Given the description of an element on the screen output the (x, y) to click on. 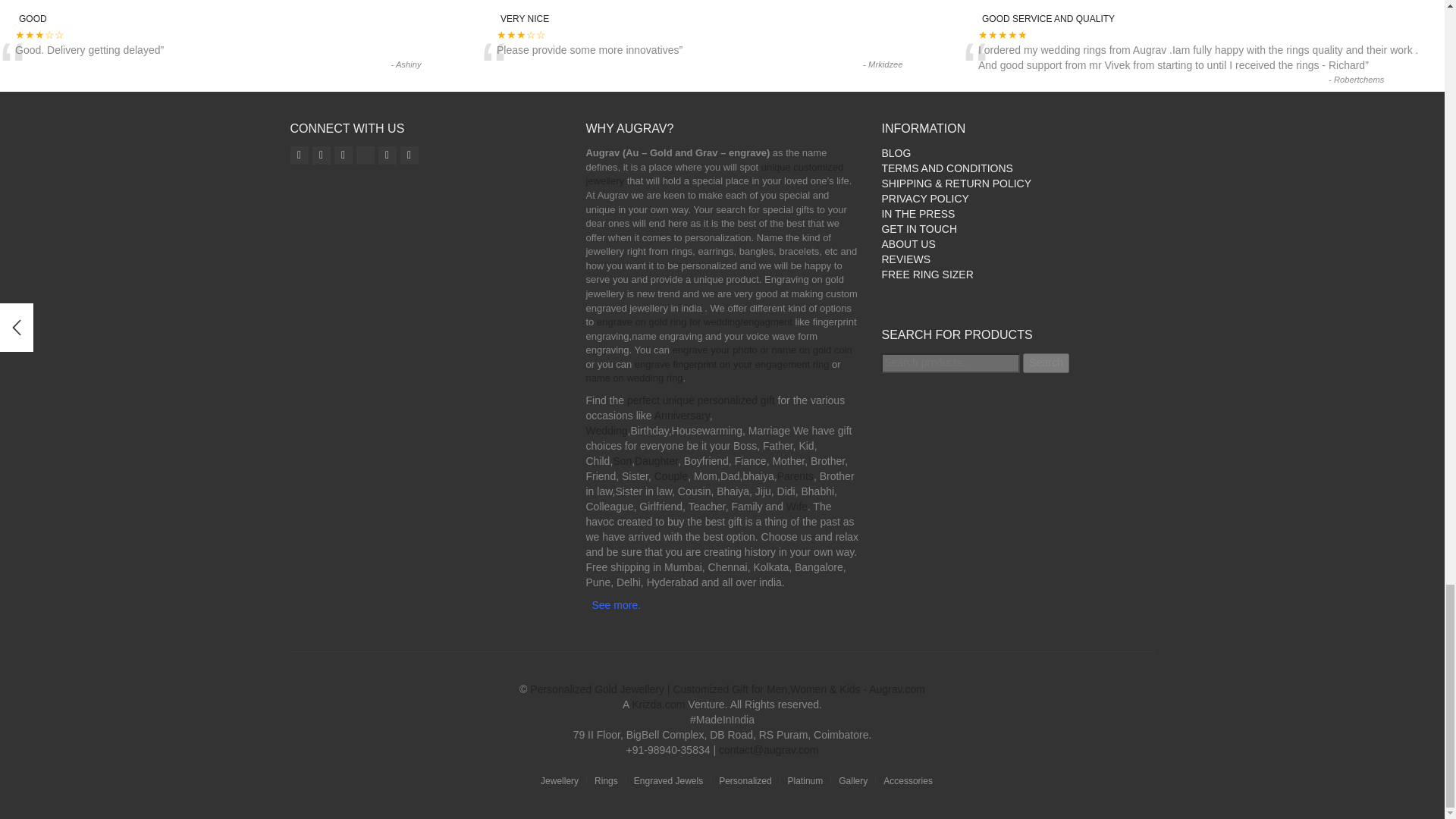
Twitter (342, 155)
LinkedIn (409, 155)
Instagram (298, 155)
Facebook (321, 155)
Pinterest (386, 155)
